Given the description of an element on the screen output the (x, y) to click on. 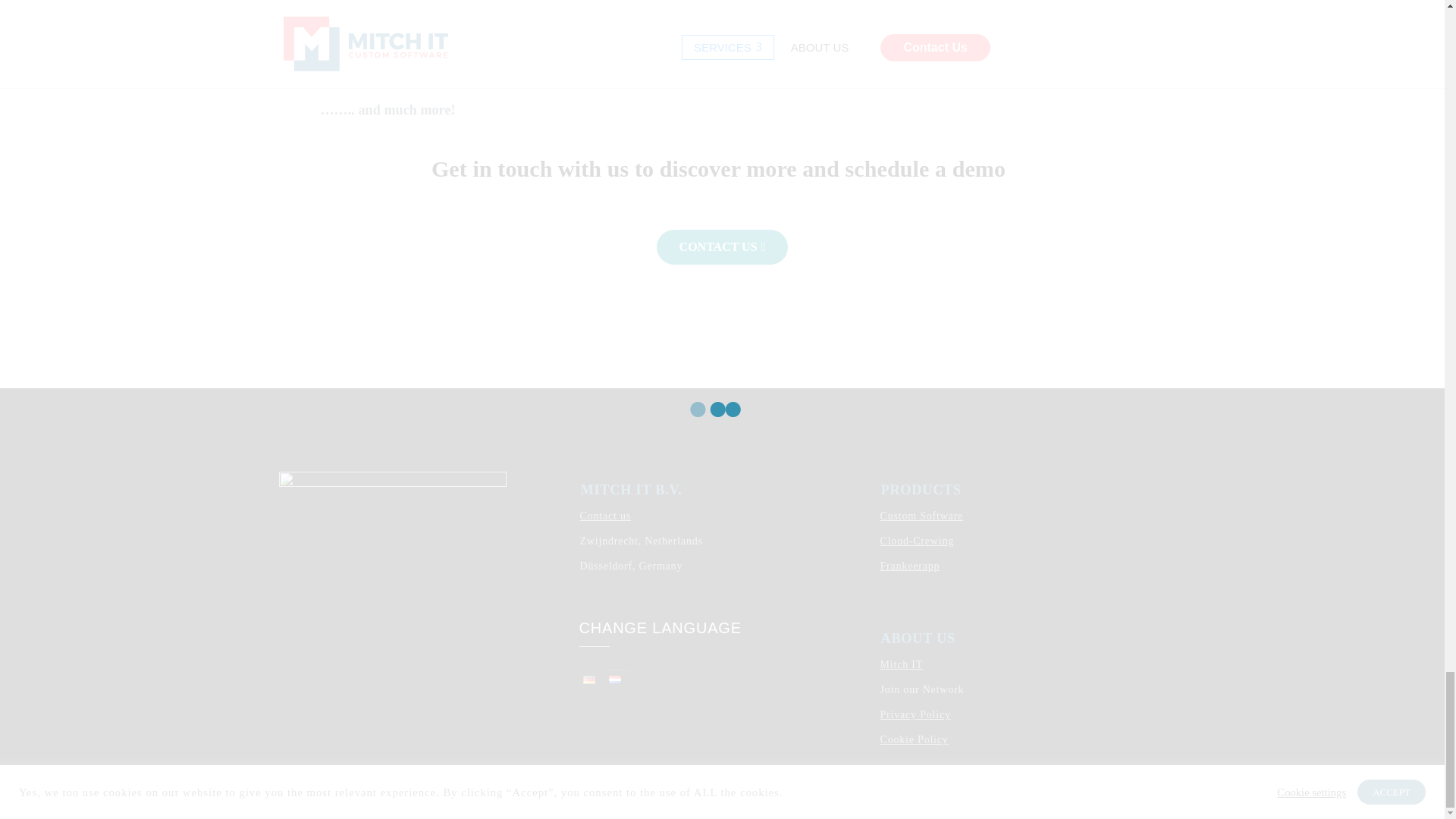
Frankeerapp (909, 565)
Custom Software (920, 515)
CONTACT US (722, 247)
Contact us (604, 515)
Cookie Policy (913, 739)
Privacy Policy (914, 714)
Mitch IT (901, 664)
Cloud-Crewing (916, 541)
